Given the description of an element on the screen output the (x, y) to click on. 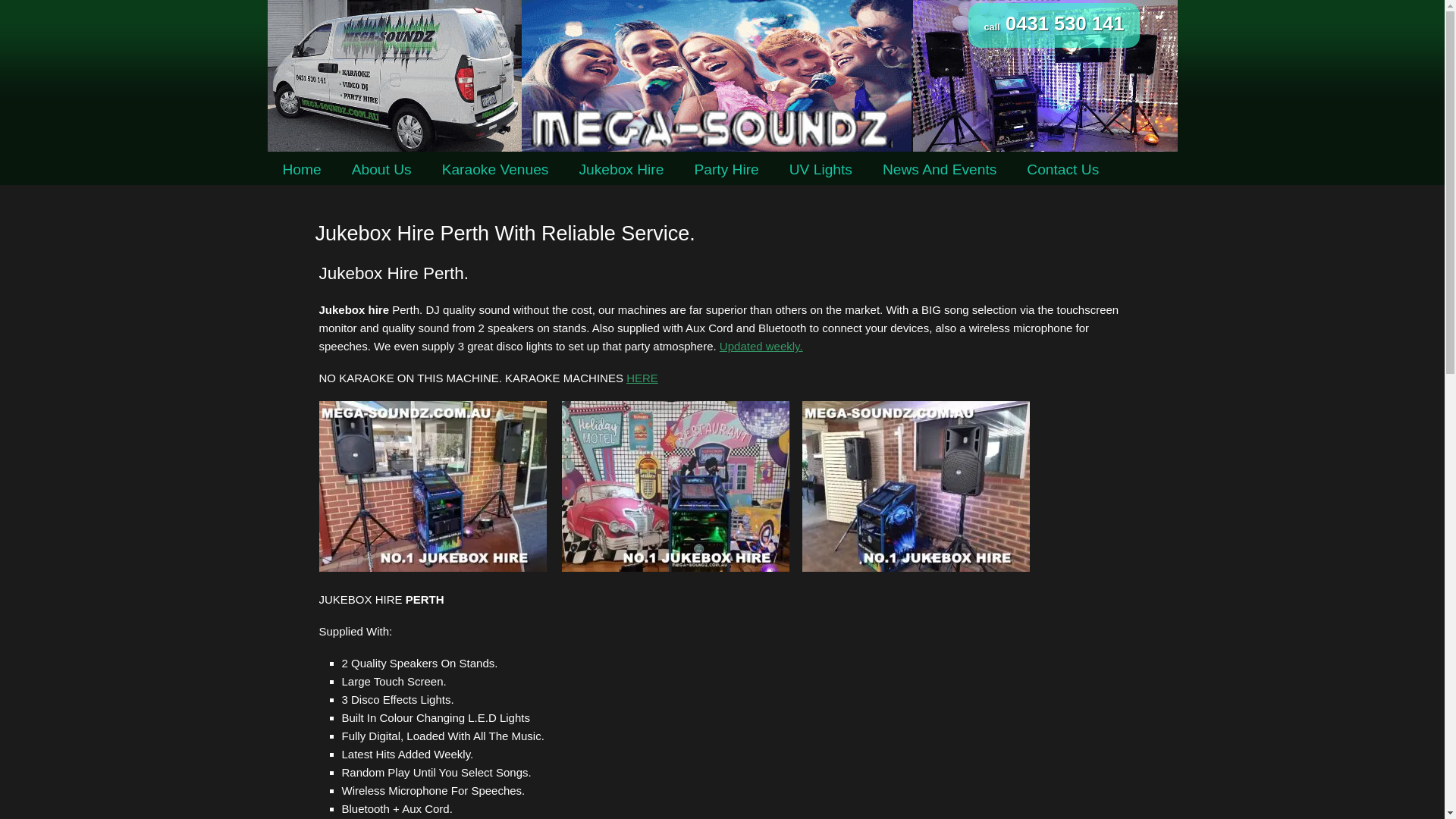
call 0431 530 141 Element type: text (1053, 25)
HERE Element type: text (642, 377)
Jukebox Hire Element type: text (620, 169)
UV Lights Element type: text (820, 169)
jukebox hire perth Element type: hover (675, 486)
About Us Element type: text (381, 169)
Karaoke Venues Element type: text (495, 169)
Party Hire Element type: text (725, 169)
jukebox hire perth Element type: hover (915, 486)
Contact Us Element type: text (1062, 169)
Updated weekly. Element type: text (761, 345)
News And Events Element type: text (939, 169)
jukebox hire perth Element type: hover (432, 486)
Home Element type: text (300, 169)
